Given the description of an element on the screen output the (x, y) to click on. 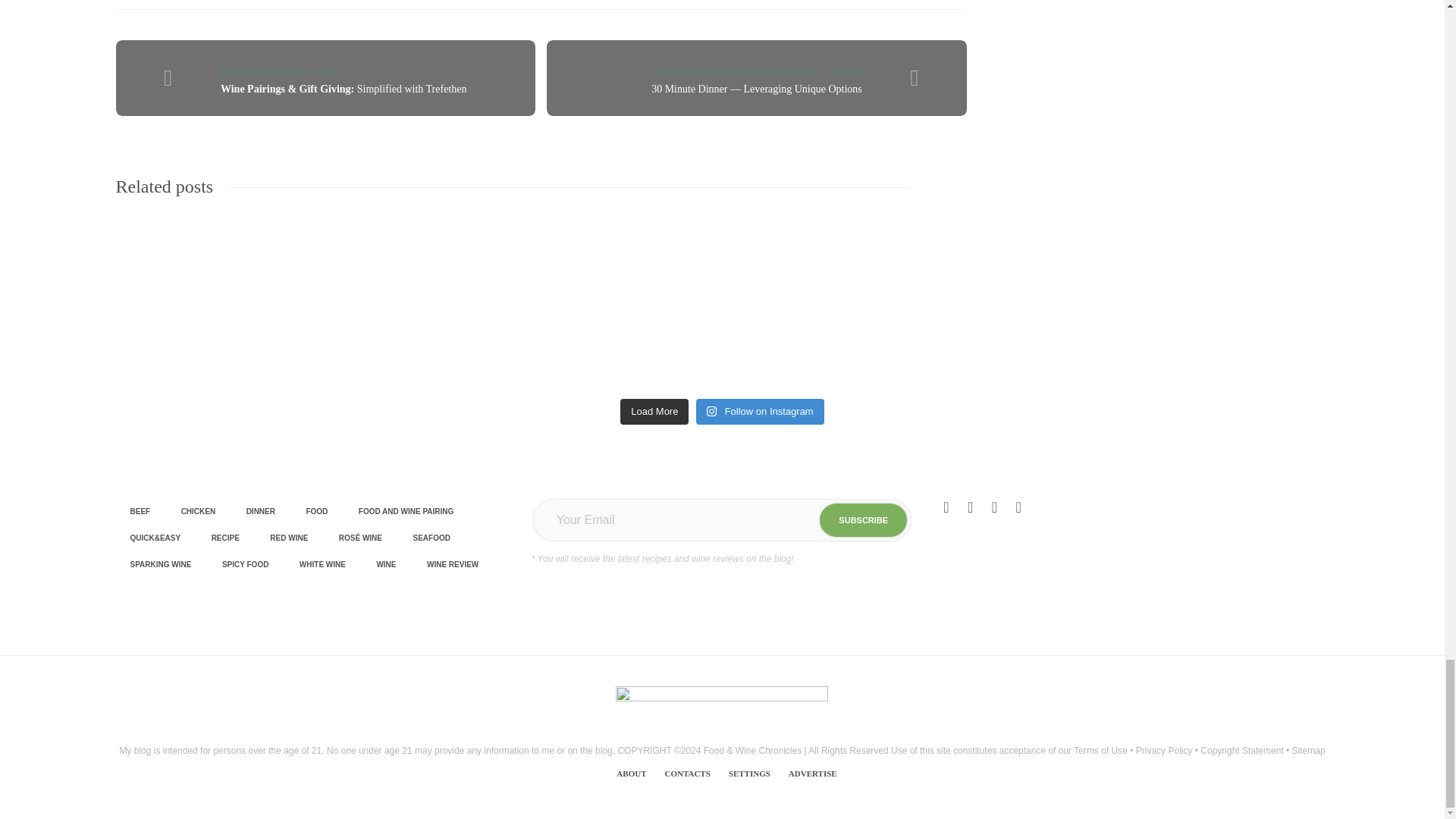
Subscribe (863, 519)
